Given the description of an element on the screen output the (x, y) to click on. 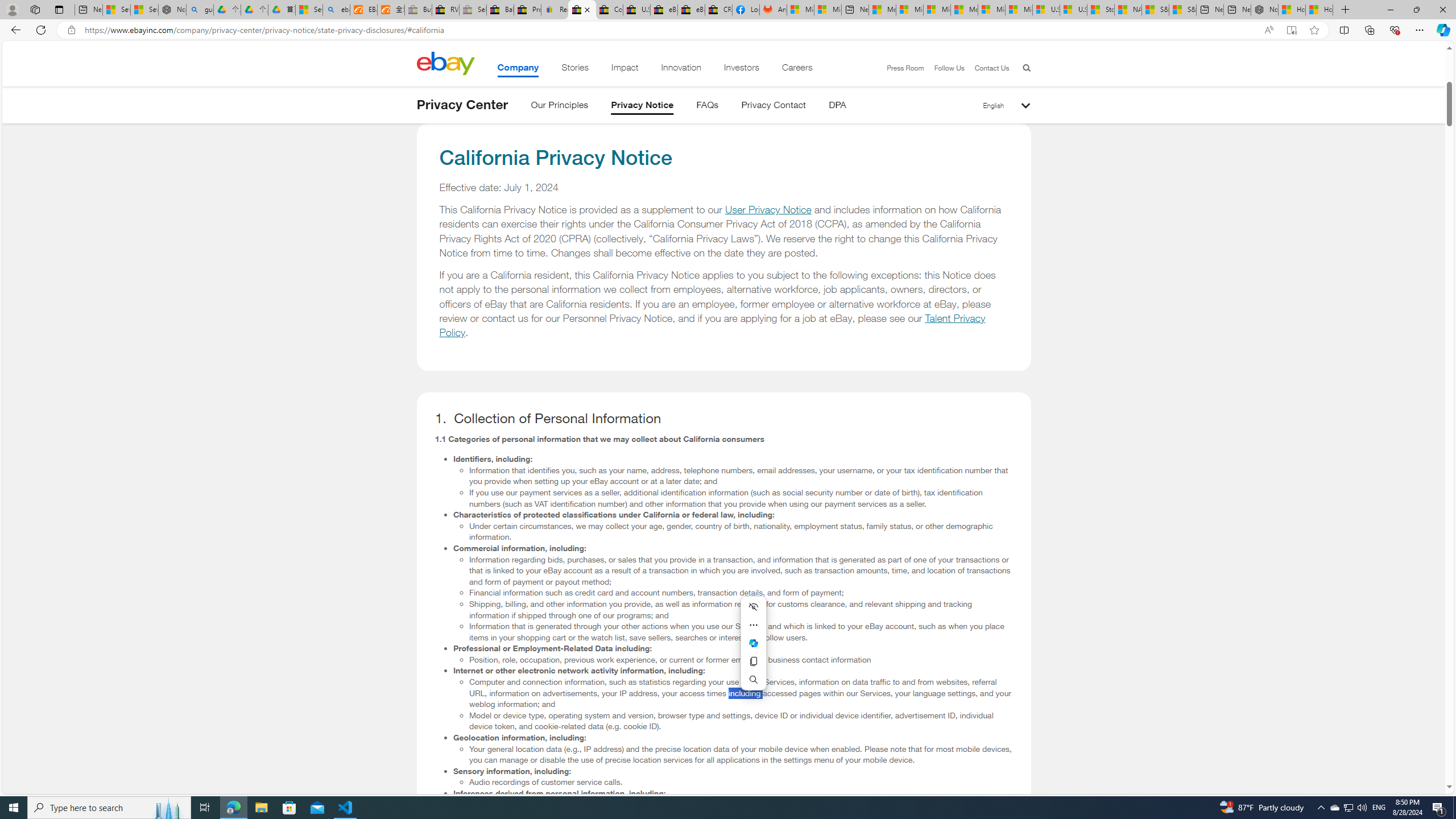
ebay - Search (336, 9)
Sell worldwide with eBay - Sleeping (473, 9)
Log into Facebook (746, 9)
Buy Auto Parts & Accessories | eBay - Sleeping (418, 9)
Register: Create a personal eBay account (554, 9)
S&P 500, Nasdaq end lower, weighed by Nvidia dip | Watch (1182, 9)
U.S. State Privacy Disclosures - eBay Inc. (636, 9)
Address and search bar (669, 29)
